Given the description of an element on the screen output the (x, y) to click on. 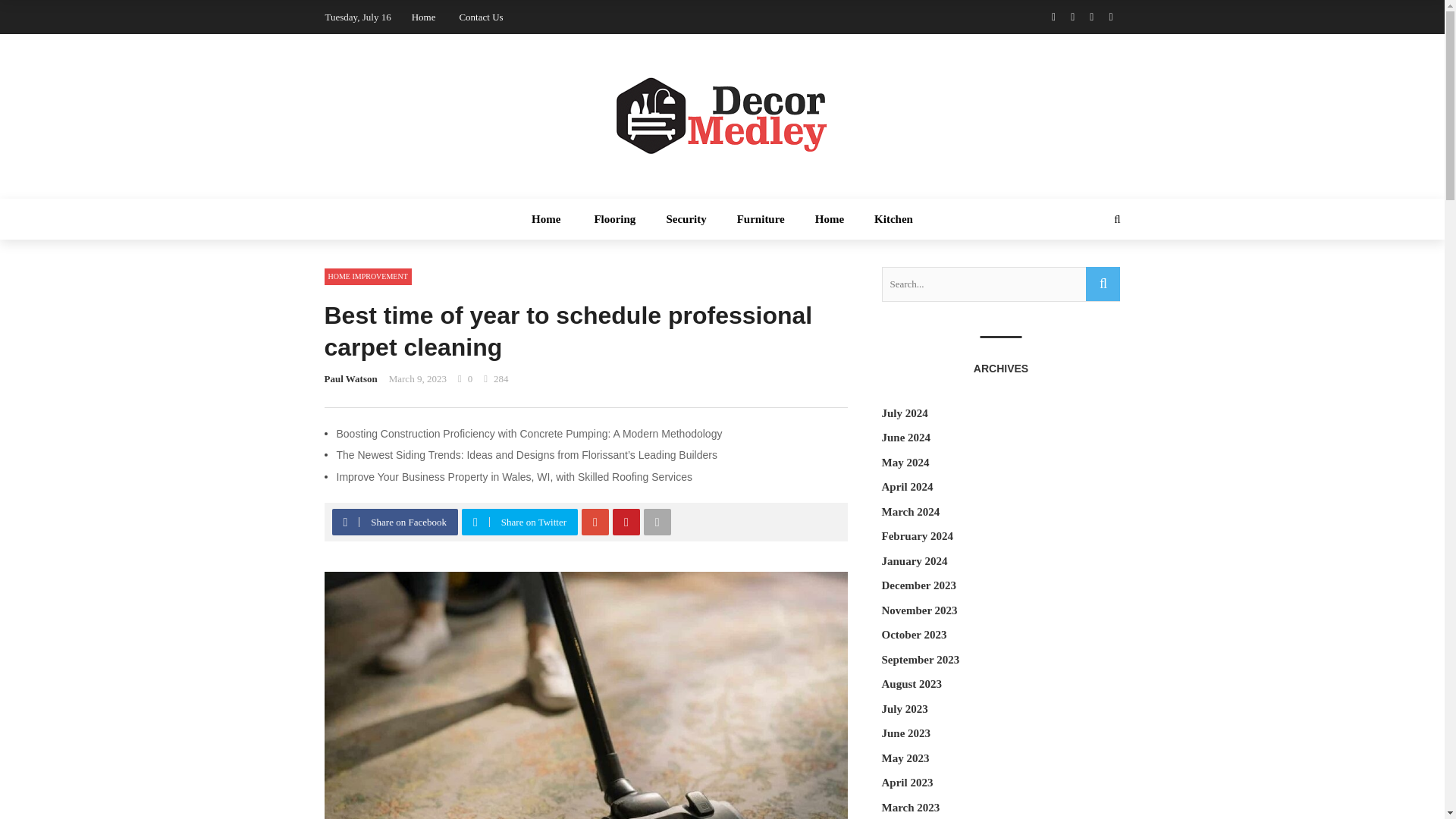
Contact Us (480, 16)
Furniture (760, 219)
Security (685, 219)
Home (423, 16)
Kitchen (885, 219)
HOME IMPROVEMENT (368, 276)
Home (829, 219)
Paul Watson (350, 378)
Flooring (614, 219)
Home (554, 219)
